Given the description of an element on the screen output the (x, y) to click on. 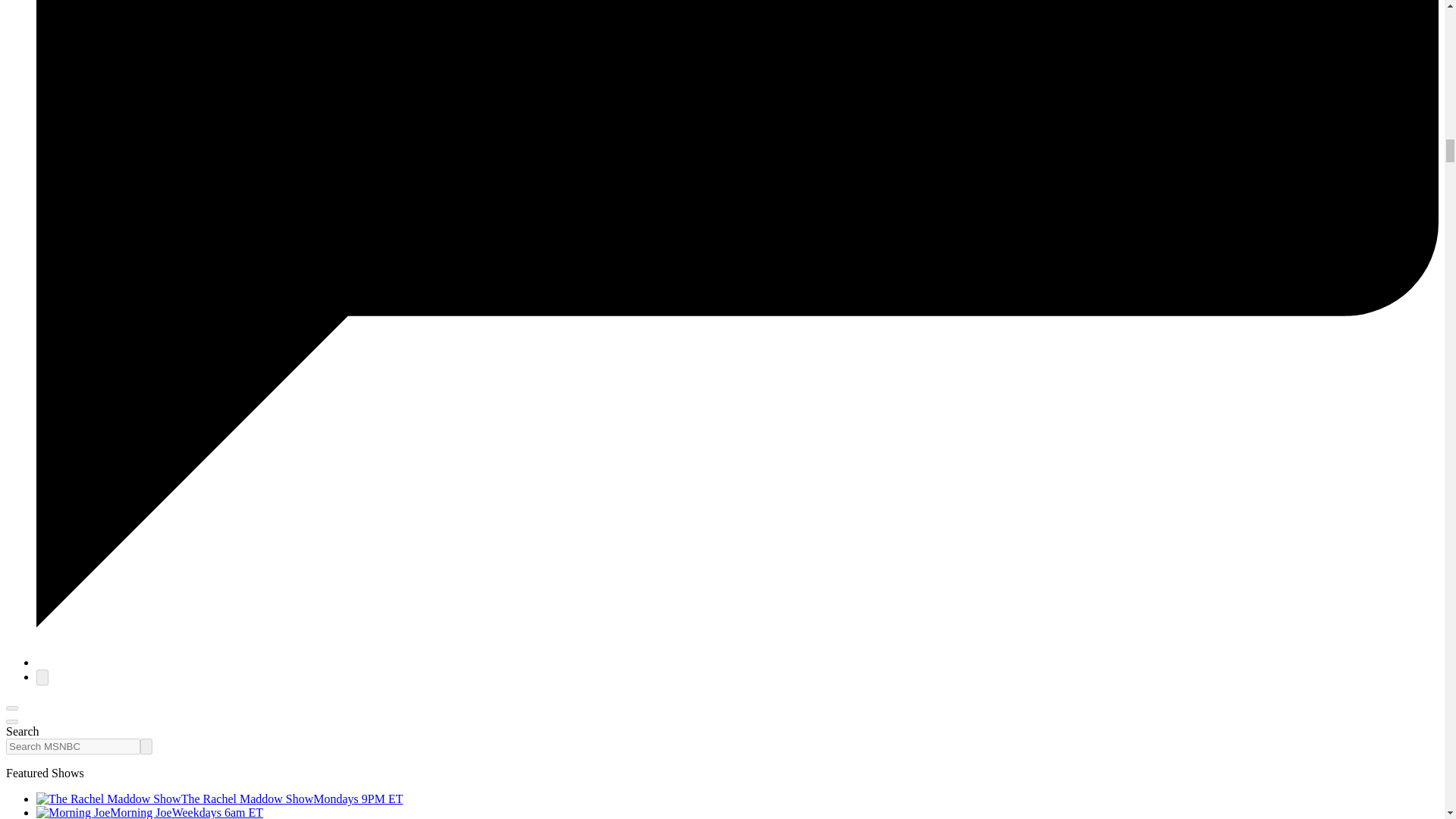
The Rachel Maddow ShowMondays 9PM ET (219, 798)
Morning JoeWeekdays 6am ET (149, 812)
